Given the description of an element on the screen output the (x, y) to click on. 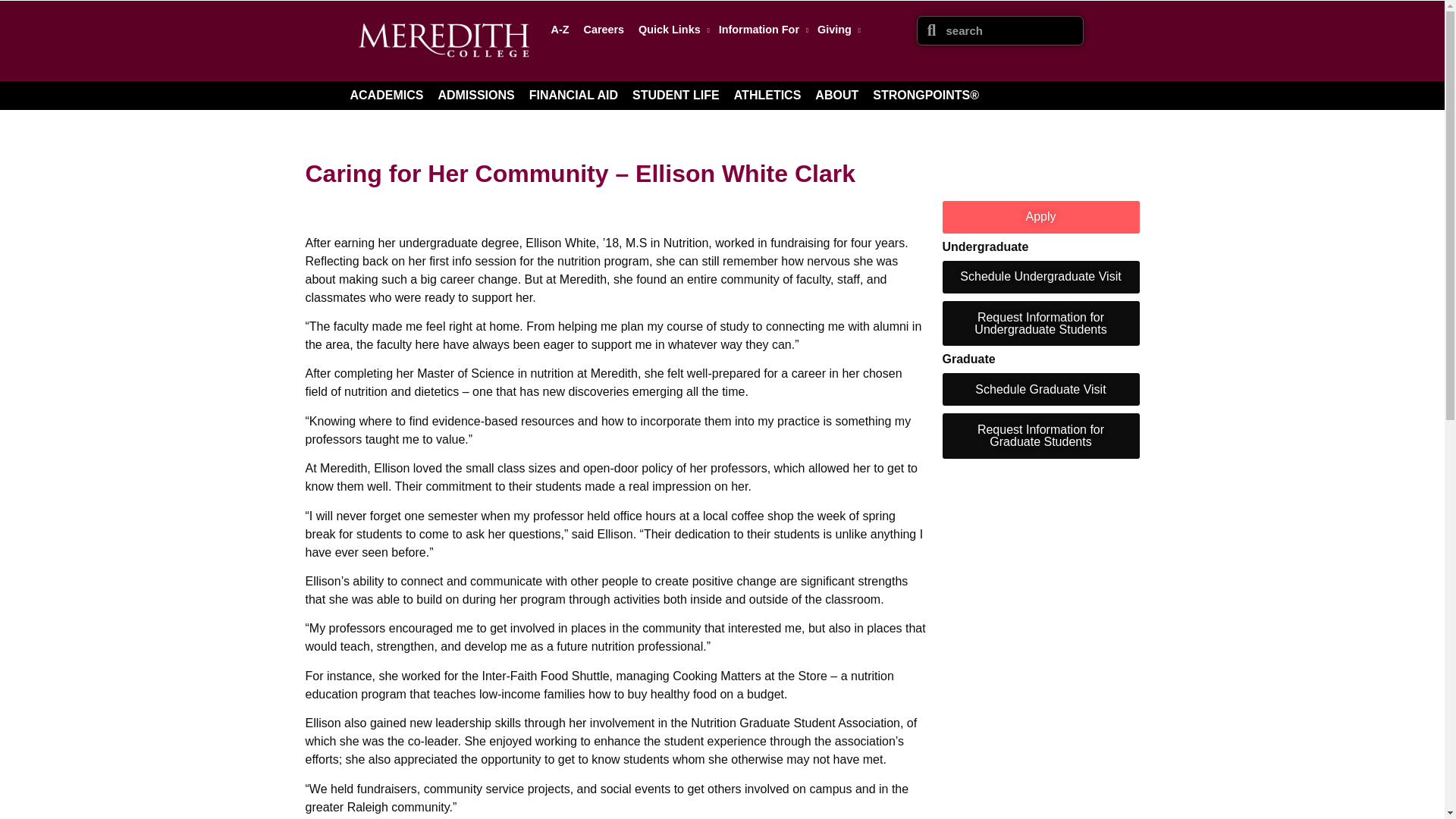
Quick Links (670, 29)
Giving (836, 29)
ATHLETICS (767, 95)
Information For (760, 29)
ACADEMICS (386, 95)
Careers (603, 29)
FINANCIAL AID (573, 95)
ADMISSIONS (475, 95)
ABOUT (837, 95)
STUDENT LIFE (675, 95)
